Given the description of an element on the screen output the (x, y) to click on. 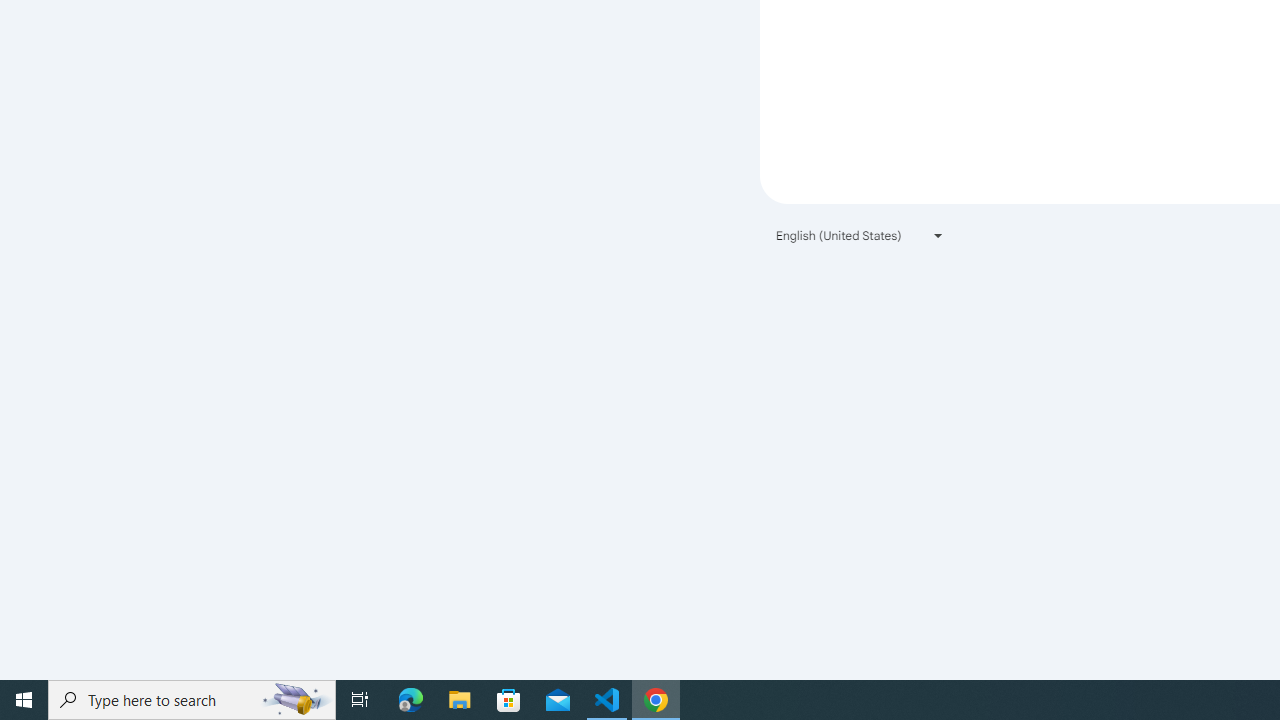
English (United States) (860, 234)
